Given the description of an element on the screen output the (x, y) to click on. 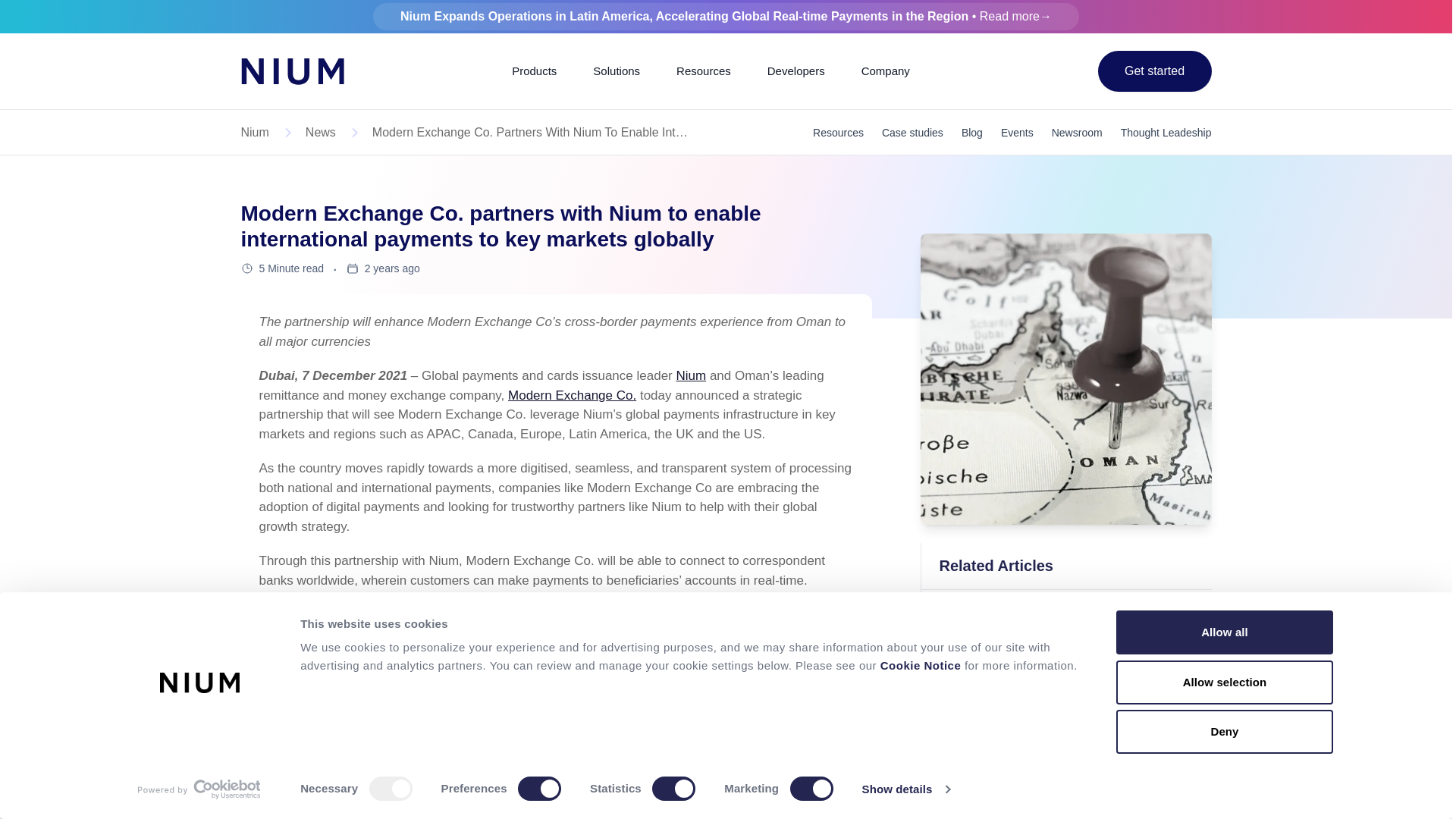
Cookie Notice (919, 665)
Show details (905, 789)
